Given the description of an element on the screen output the (x, y) to click on. 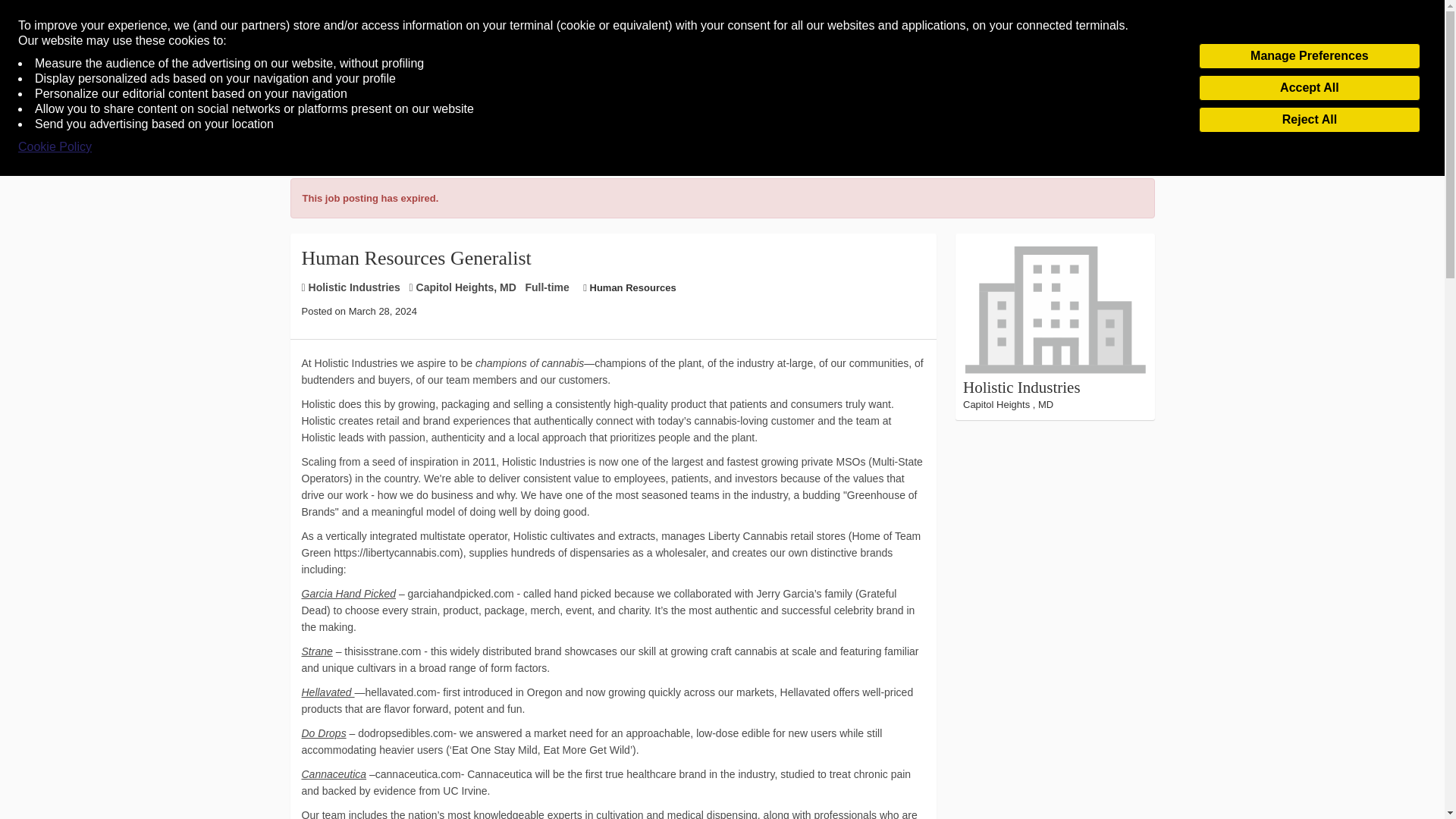
Menu (40, 89)
Manage Preferences (1309, 55)
Alabama (754, 87)
AL.com (690, 87)
AL.com (690, 87)
Cookie Policy (54, 146)
Reject All (1309, 119)
Accept All (1309, 87)
